Given the description of an element on the screen output the (x, y) to click on. 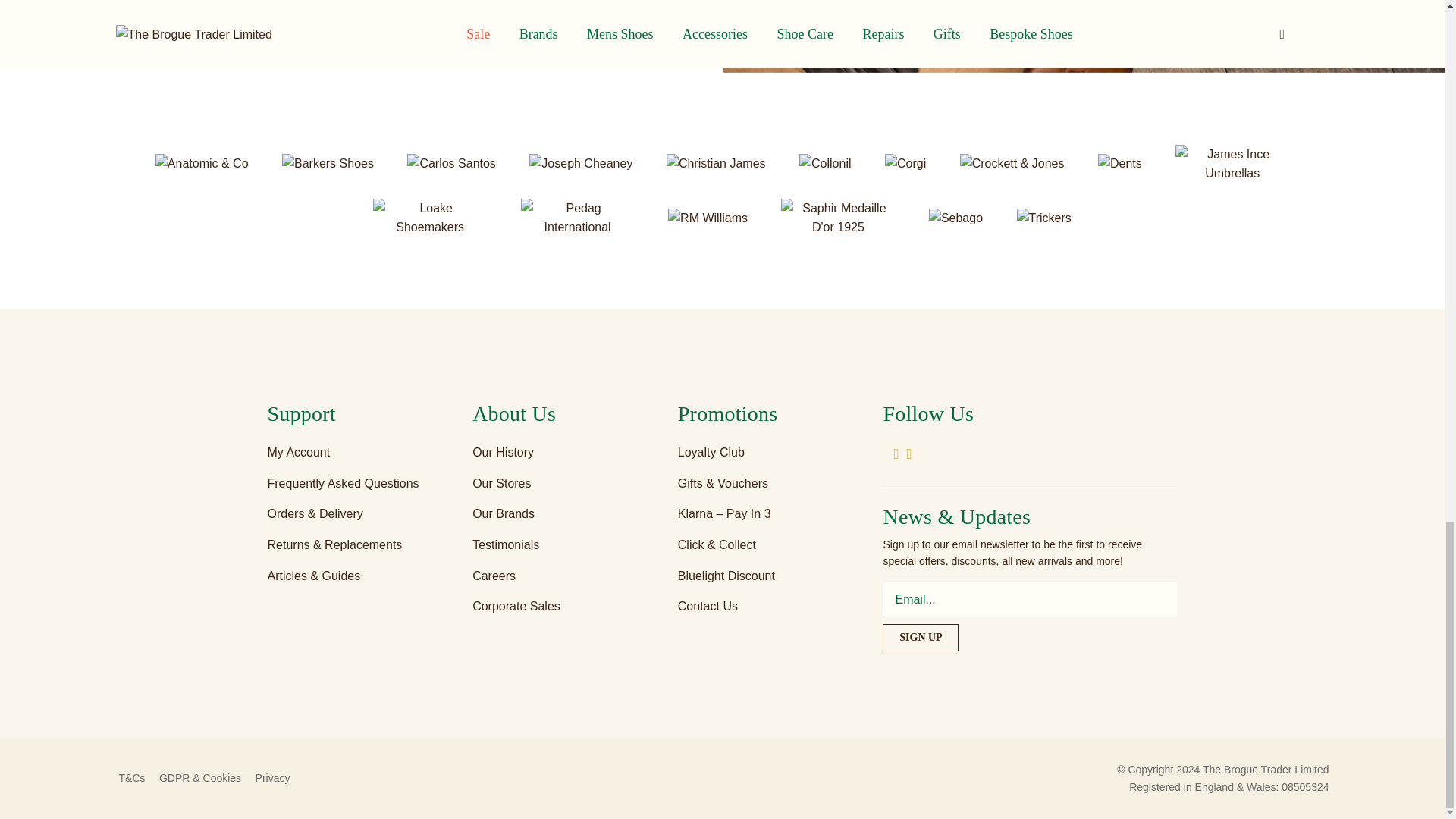
Loake Shoemakers (431, 216)
Barkers Shoes (328, 163)
Saphir Medaille D'or 1925 (838, 216)
Carlos Santos (452, 163)
Joseph Cheaney (581, 163)
Corgi (906, 163)
Dents (1121, 163)
Pedag International (578, 216)
Collonil (826, 163)
Sign up (920, 637)
